Given the description of an element on the screen output the (x, y) to click on. 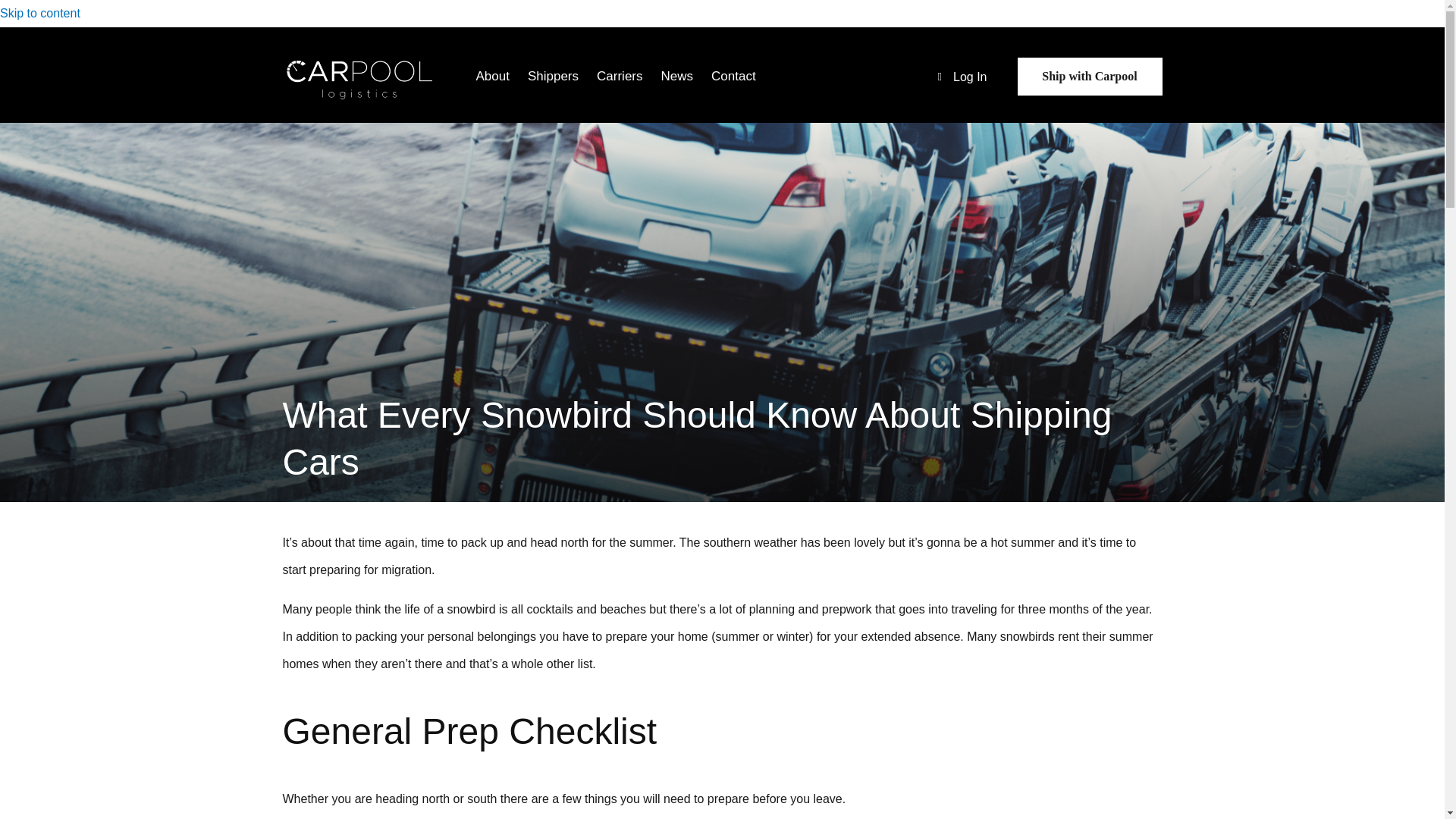
Carpool-Logistics-Logo White-Center (358, 76)
Skip to content (40, 12)
Shippers (553, 76)
About (492, 76)
Skip to content (40, 12)
Click Here (1089, 76)
Log In (970, 76)
News (677, 76)
Contact (733, 76)
Carriers (619, 76)
Ship with Carpool (1089, 76)
